Given the description of an element on the screen output the (x, y) to click on. 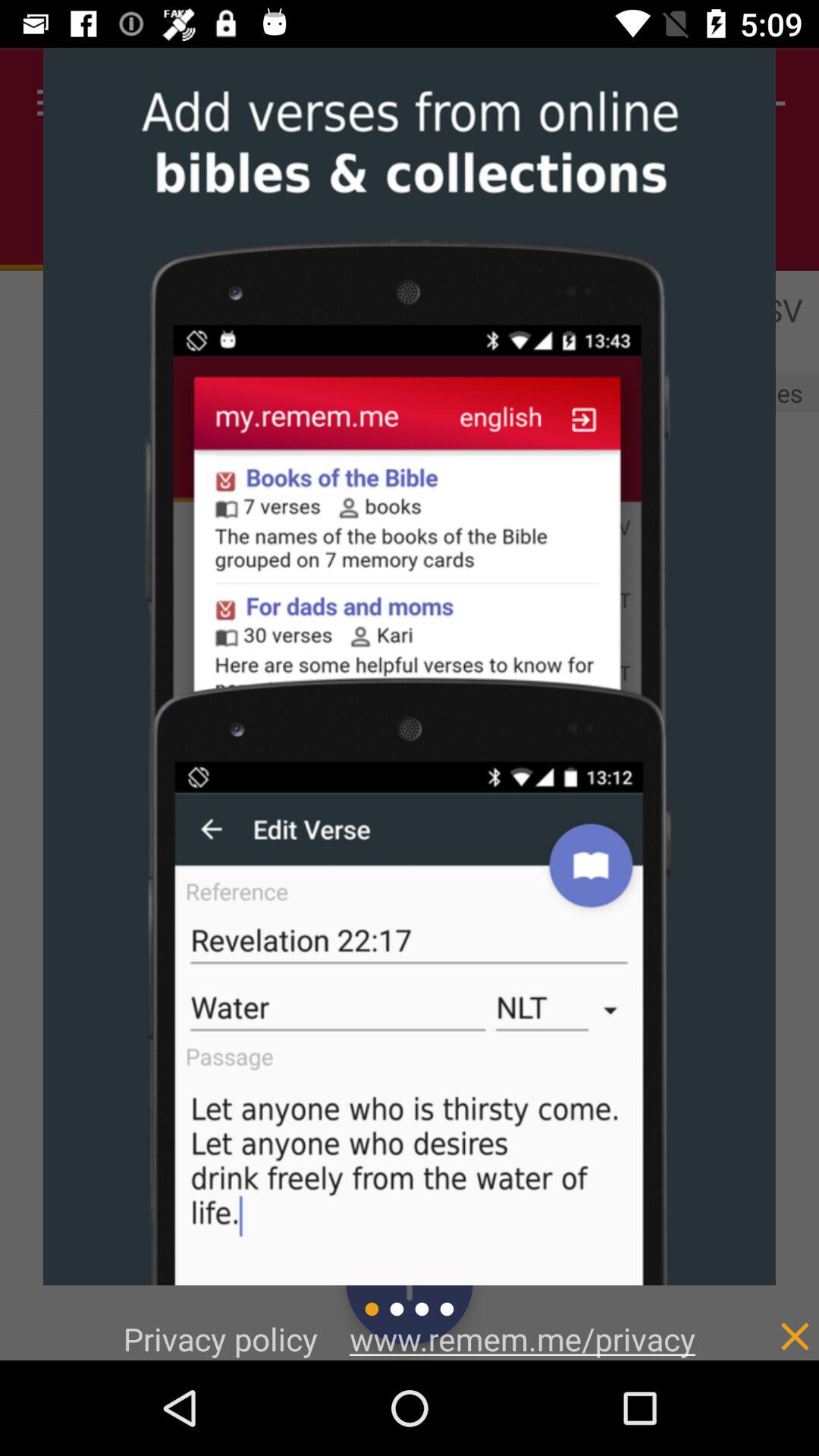
launch icon to the right of privacy policy icon (522, 1338)
